Given the description of an element on the screen output the (x, y) to click on. 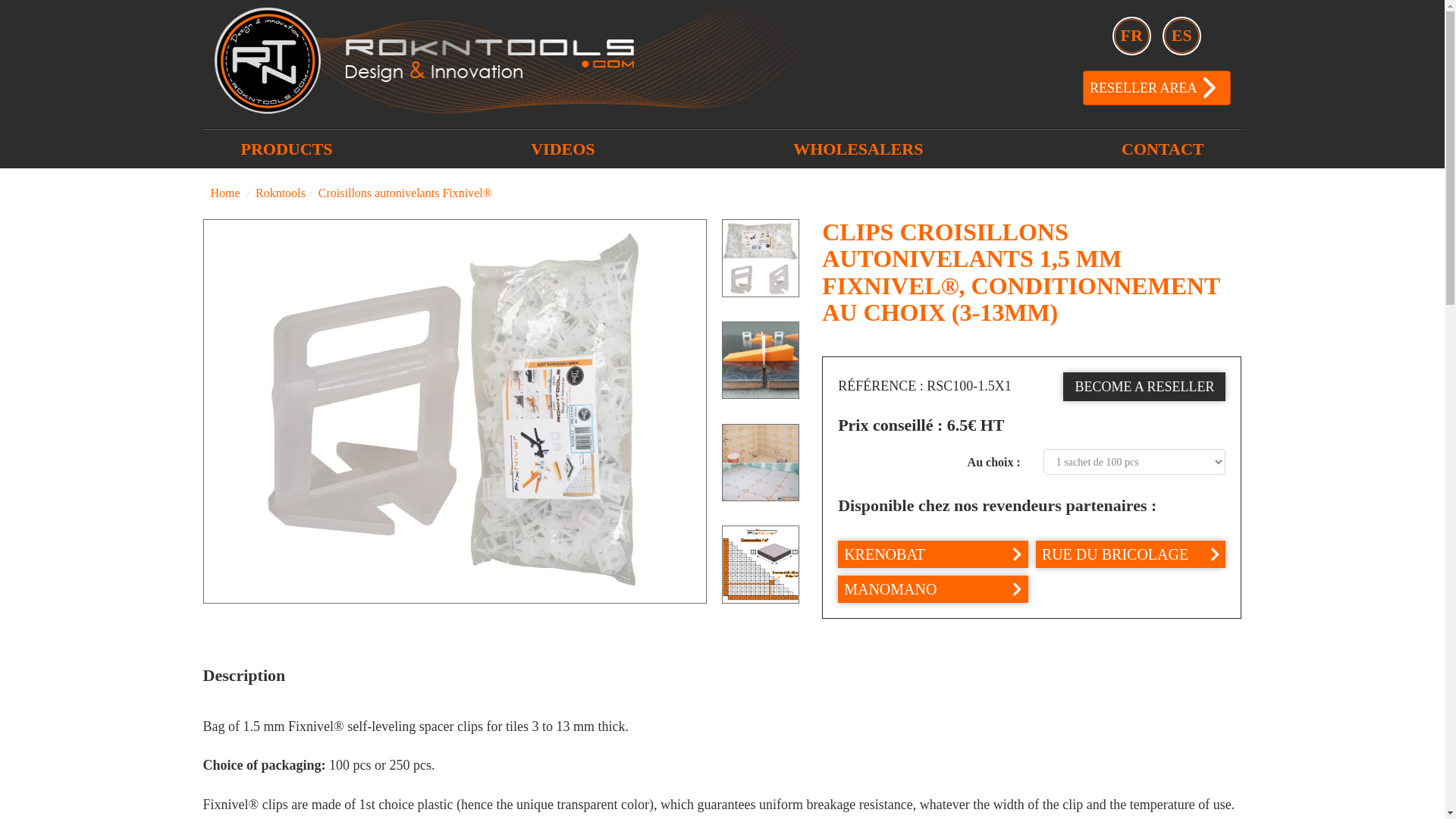
RESELLER AREA (1156, 86)
WHOLESALERS (857, 148)
MANOMANO (932, 588)
KRENOBAT (932, 554)
FR (1131, 35)
ES (1181, 35)
Home (225, 192)
Rokntools (280, 192)
CONTACT (1162, 148)
BECOME A RESELLER (1143, 386)
French (1131, 35)
VIDEOS (562, 148)
RUE DU BRICOLAGE (1130, 554)
PRODUCTS (286, 148)
